Given the description of an element on the screen output the (x, y) to click on. 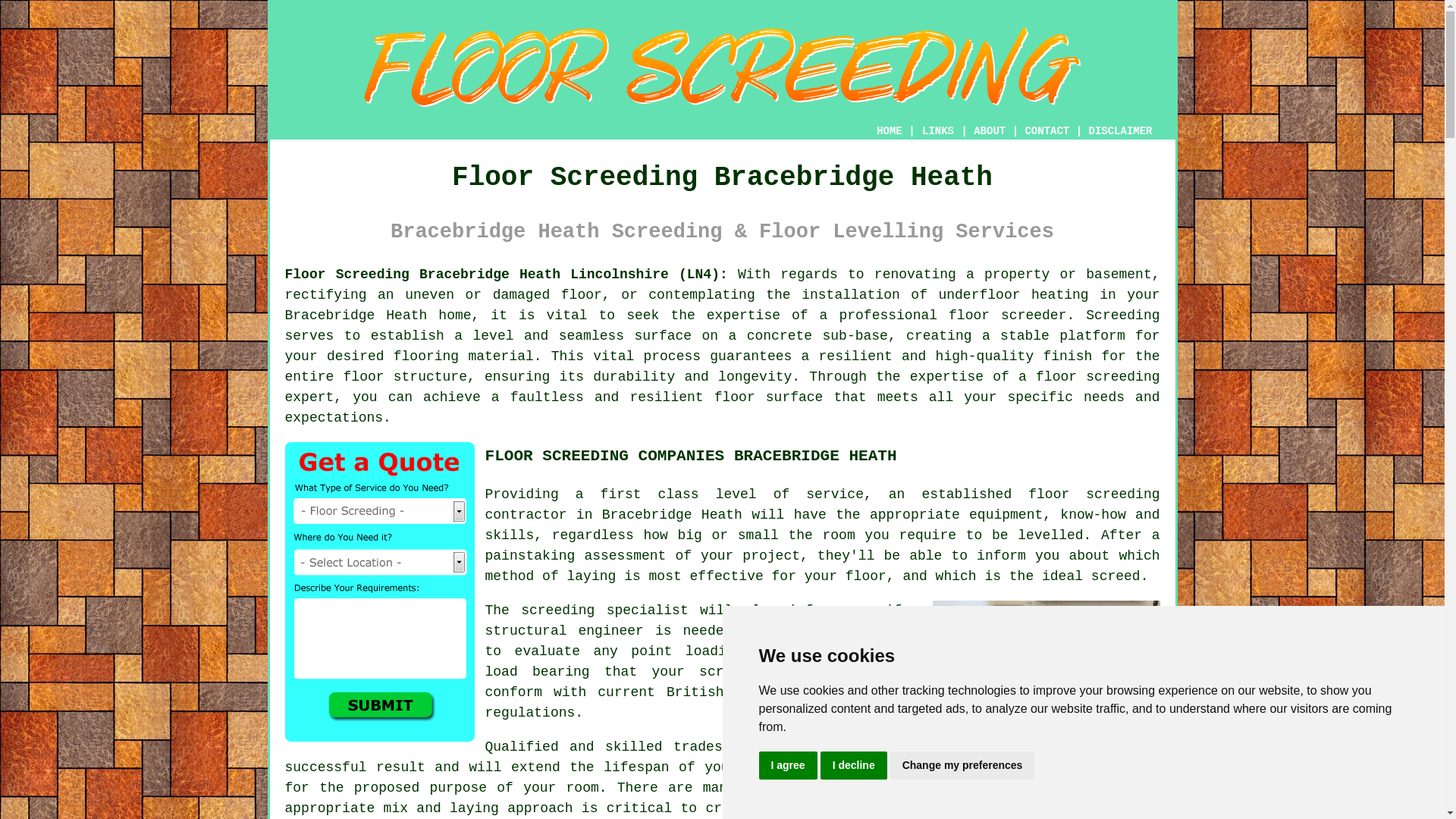
LINKS (938, 131)
Change my preferences (962, 765)
screed (1135, 767)
I decline (853, 765)
HOME (889, 131)
a structural engineer (702, 620)
I agree (787, 765)
Floor Screeding Bracebridge Heath (722, 66)
